Given the description of an element on the screen output the (x, y) to click on. 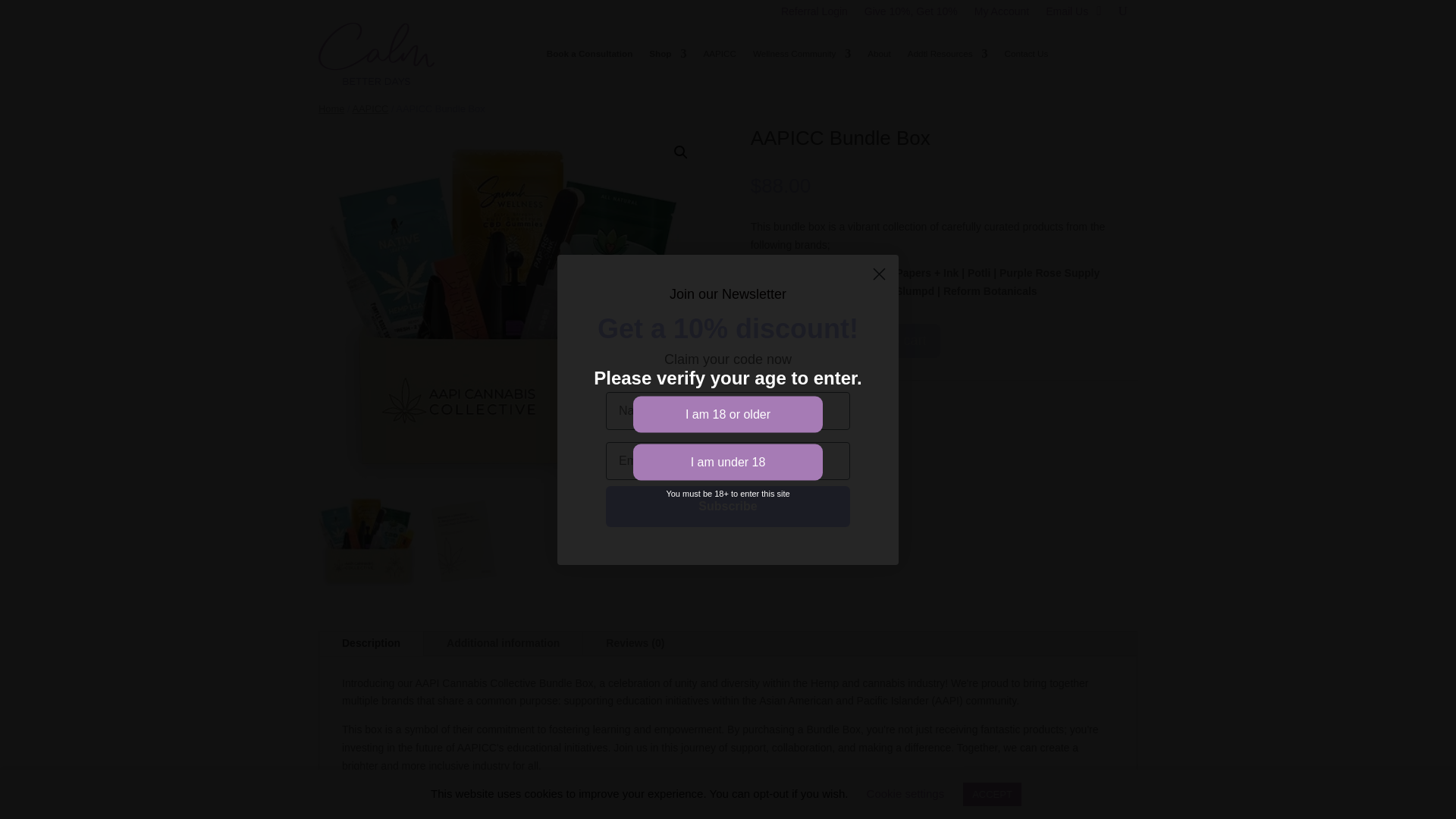
Close dialog 1 (879, 274)
My Account (1001, 13)
Book a Consultation (589, 53)
Email Us (1066, 13)
I am 18 or older (727, 413)
I am under 18 (727, 462)
1 (812, 336)
Referral Login (813, 13)
Qty (812, 336)
